Given the description of an element on the screen output the (x, y) to click on. 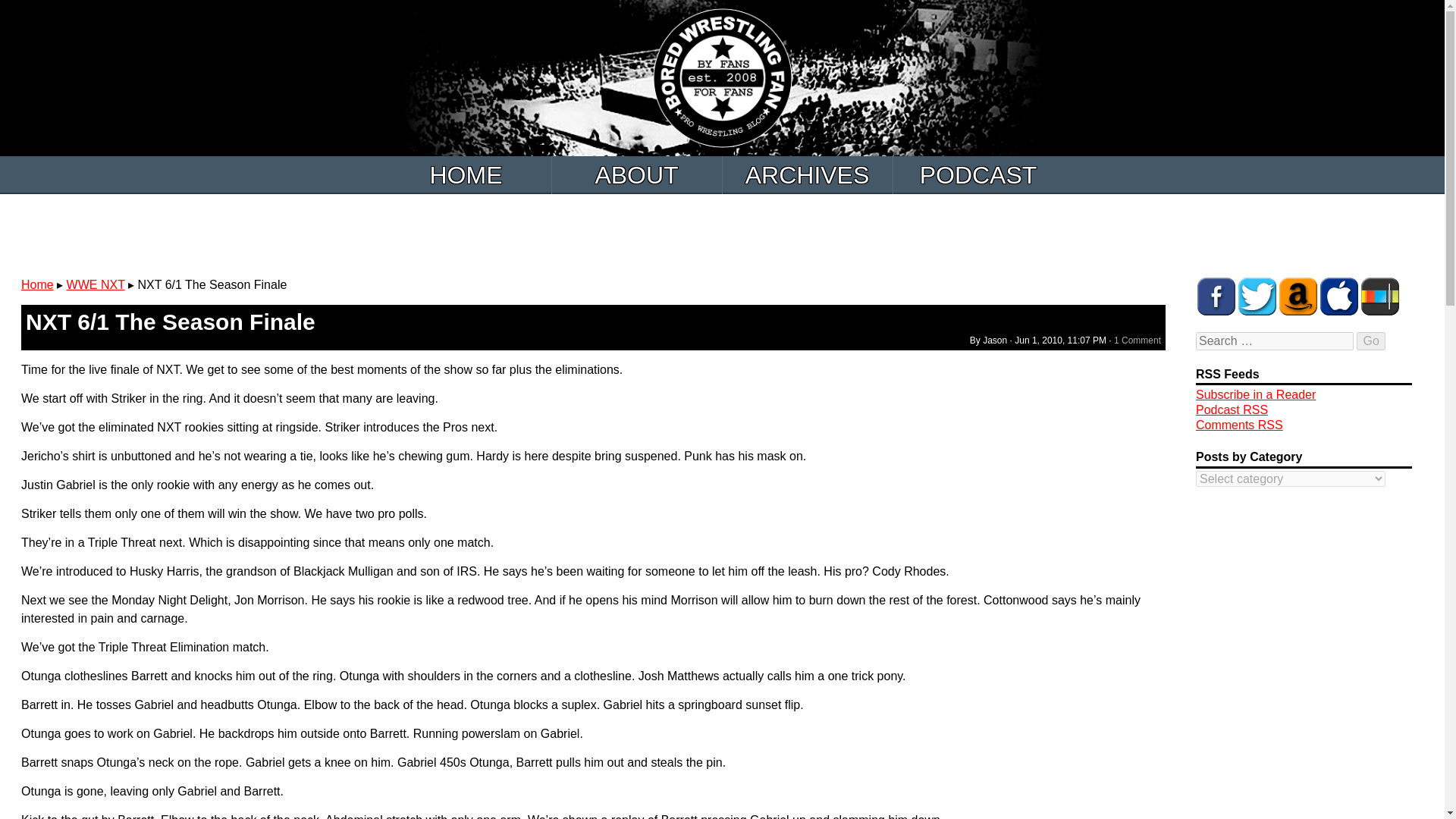
PODCAST (978, 175)
Go (1370, 341)
BWF on Twitter (1257, 296)
BWF Radio on iTunes (1339, 296)
Search for: (1274, 341)
About (636, 175)
BWF Radio on Stitcher (1380, 296)
ARCHIVES (807, 175)
Archives (807, 175)
Comments RSS (1238, 424)
